Given the description of an element on the screen output the (x, y) to click on. 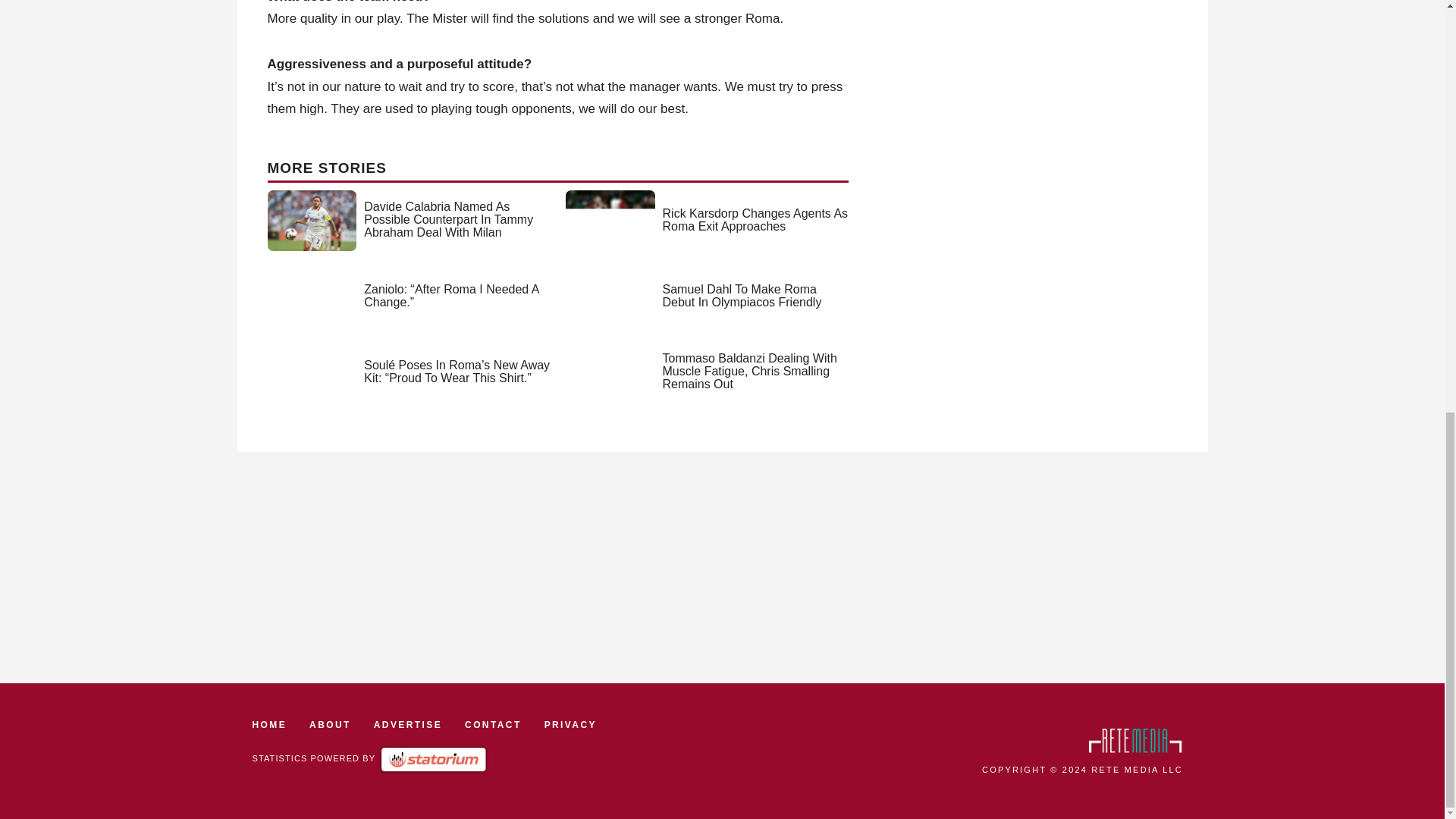
PRIVACY (570, 725)
Samuel Dahl To Make Roma Debut In Olympiacos Friendly (742, 295)
CONTACT (492, 725)
HOME (268, 725)
ABOUT (329, 725)
Rick Karsdorp Changes Agents As Roma Exit Approaches (755, 219)
ADVERTISE (408, 725)
